Given the description of an element on the screen output the (x, y) to click on. 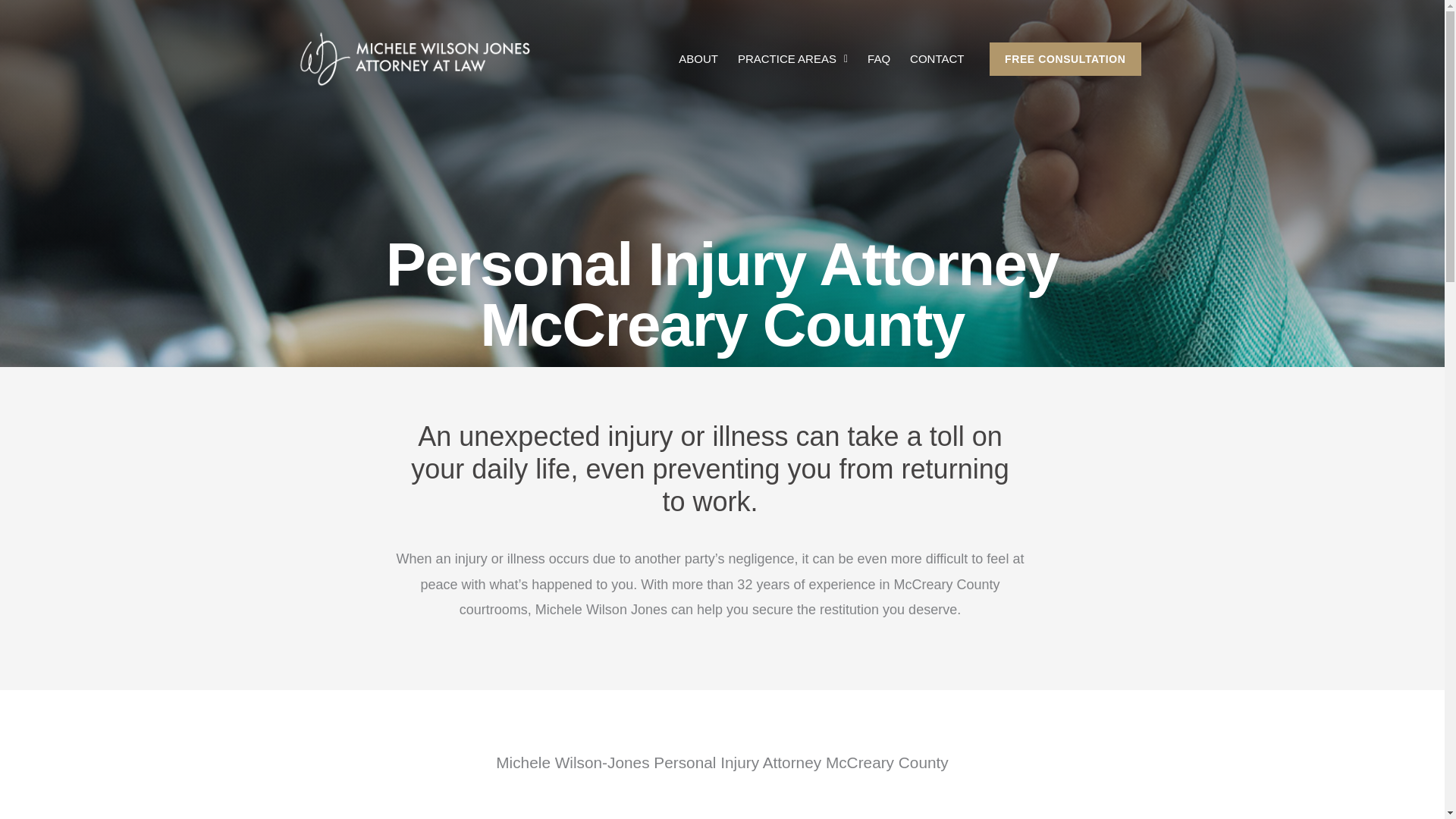
ABOUT (698, 58)
FAQ (878, 58)
FREE CONSULTATION (1065, 59)
CONTACT (936, 58)
PRACTICE AREAS (792, 58)
